Given the description of an element on the screen output the (x, y) to click on. 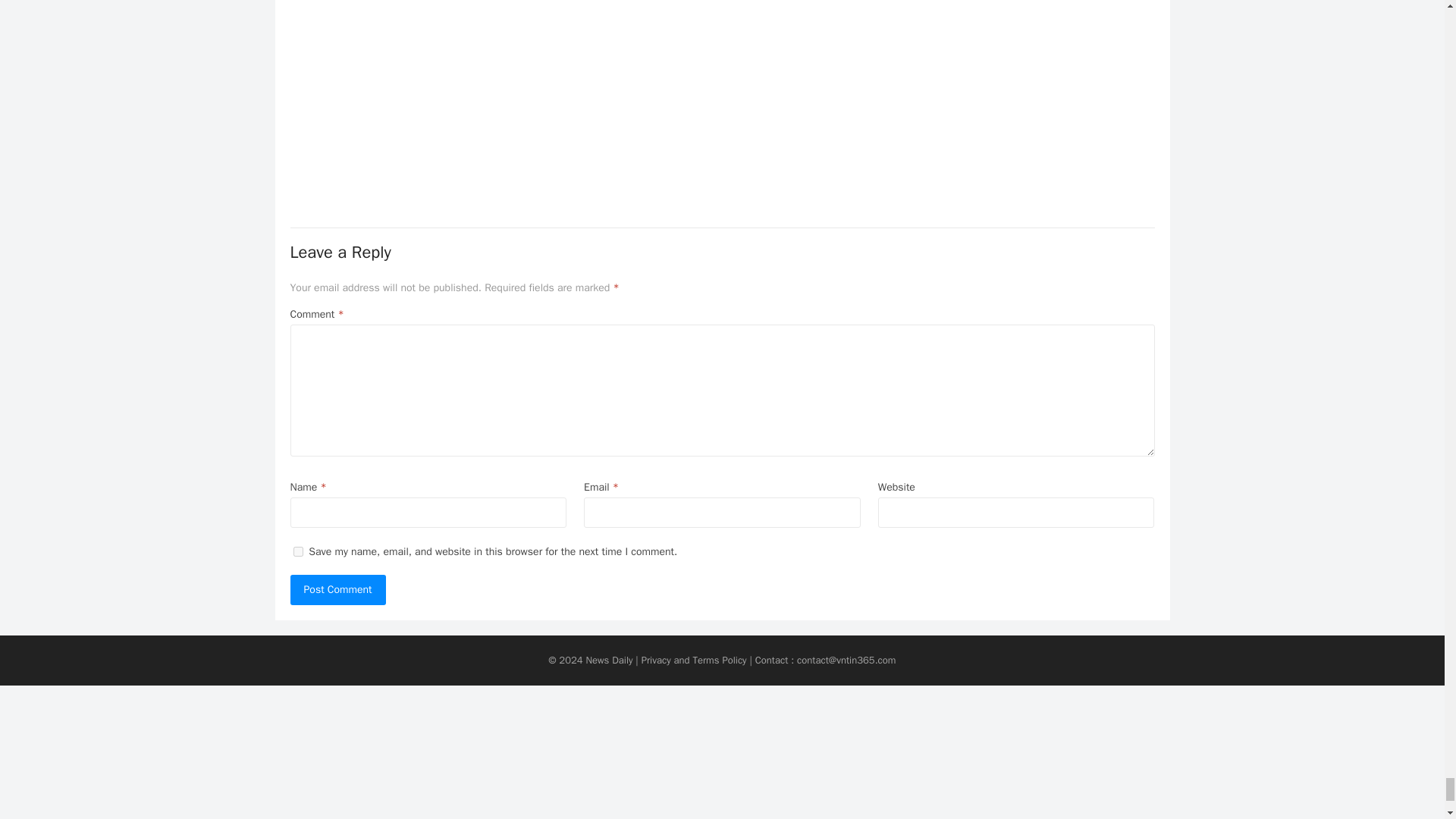
Post Comment (337, 589)
yes (297, 551)
